Given the description of an element on the screen output the (x, y) to click on. 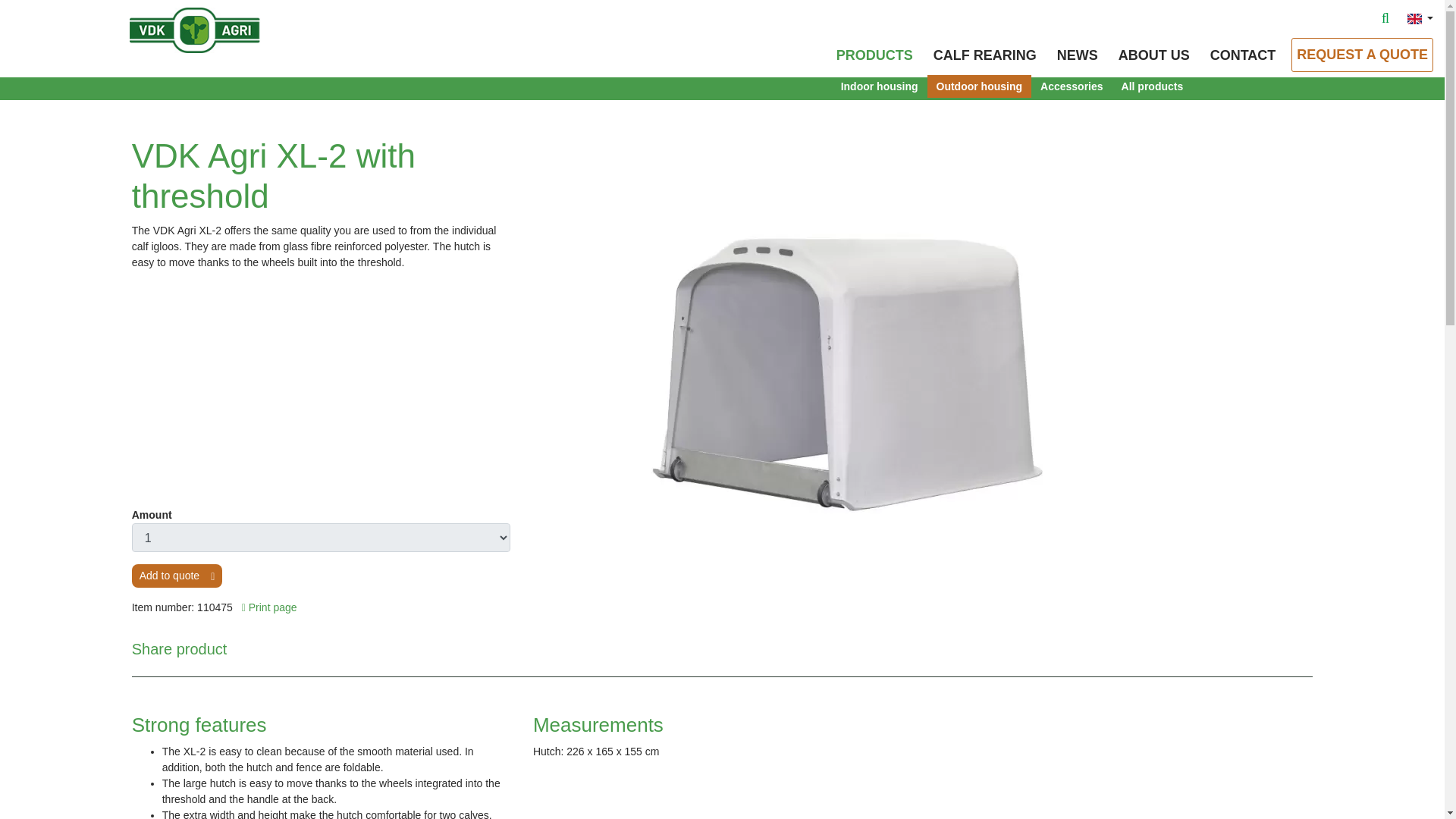
PRODUCTS (874, 54)
NEWS (1077, 54)
Indoor housing (879, 86)
Outdoor housing (979, 86)
All products (1152, 86)
ABOUT US (1153, 54)
VDK Agri (223, 28)
Outdoor housing (979, 86)
Indoor housing (879, 86)
Accessories (1071, 86)
CALF REARING (984, 54)
All products (1152, 86)
CONTACT (1243, 54)
Accessories (1071, 86)
Products (874, 54)
